Given the description of an element on the screen output the (x, y) to click on. 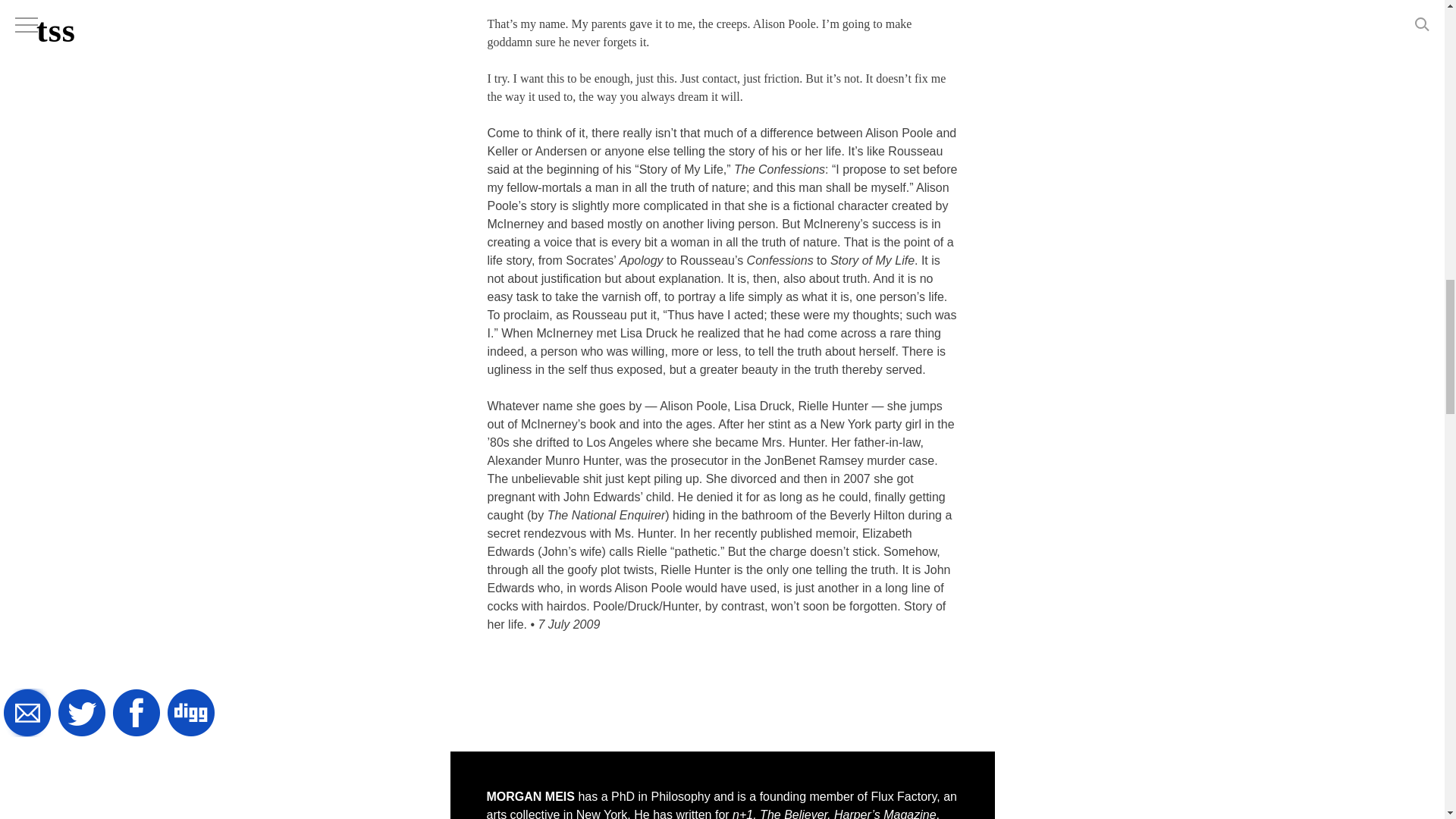
Email (27, 713)
Facebook (136, 713)
Twitter (82, 713)
Digg (190, 713)
